Given the description of an element on the screen output the (x, y) to click on. 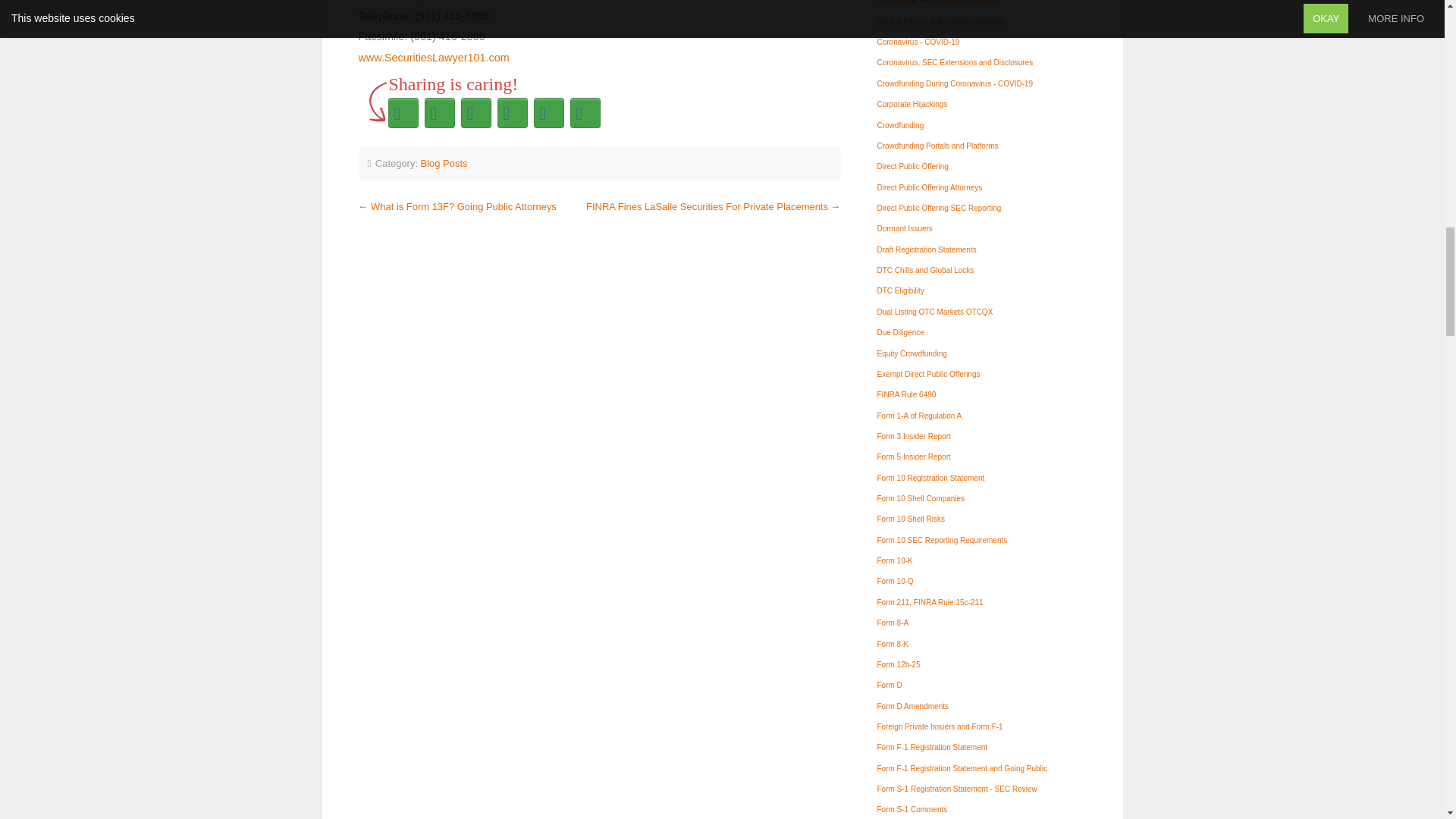
LinkedIn (549, 113)
Facebook (440, 113)
More Options (585, 113)
www.SecuritiesLawyer101.com (433, 57)
Blog Posts (443, 163)
Pinterest (476, 113)
Email This (513, 113)
